Given the description of an element on the screen output the (x, y) to click on. 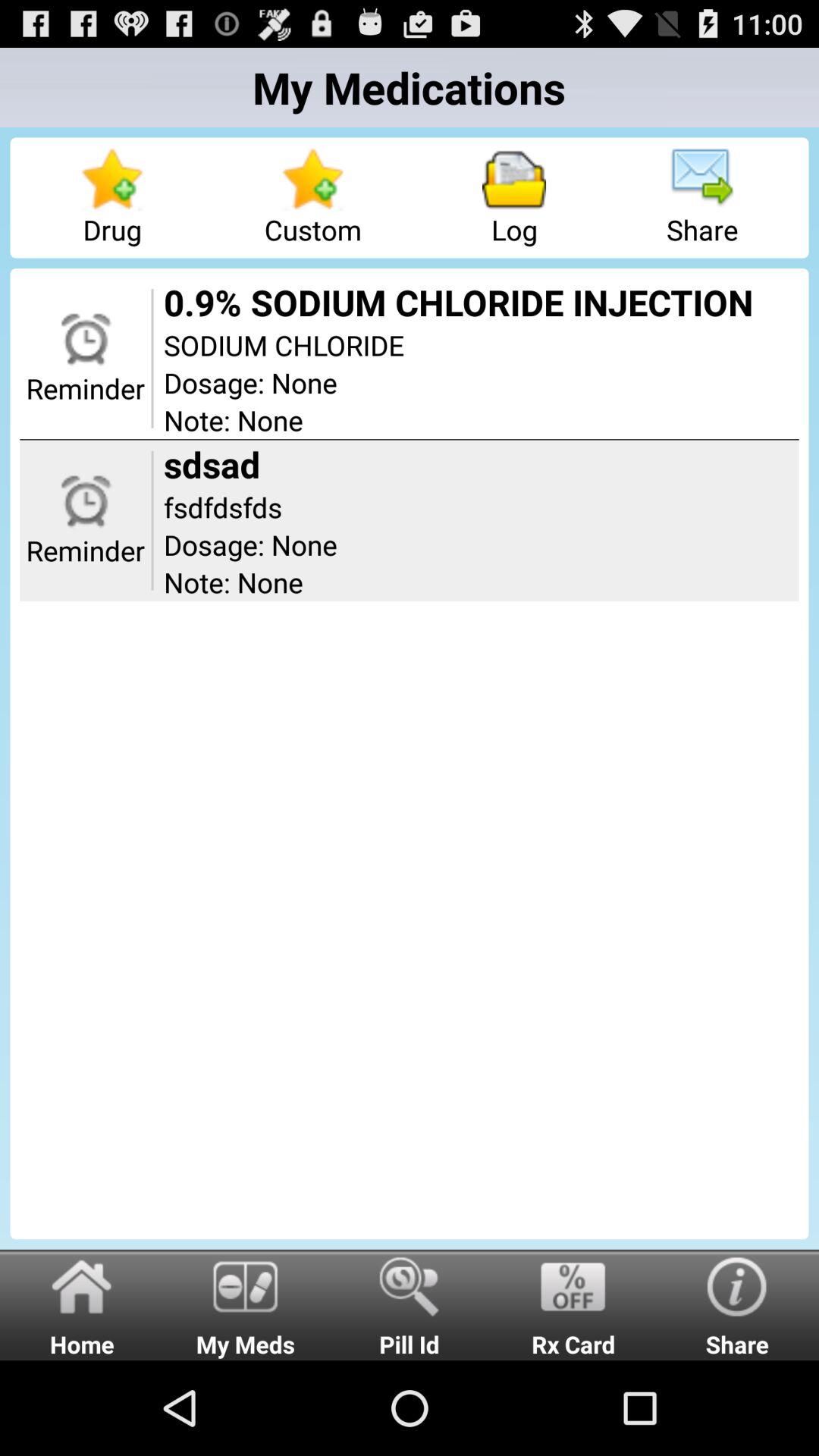
turn on icon at the bottom (409, 1304)
